Given the description of an element on the screen output the (x, y) to click on. 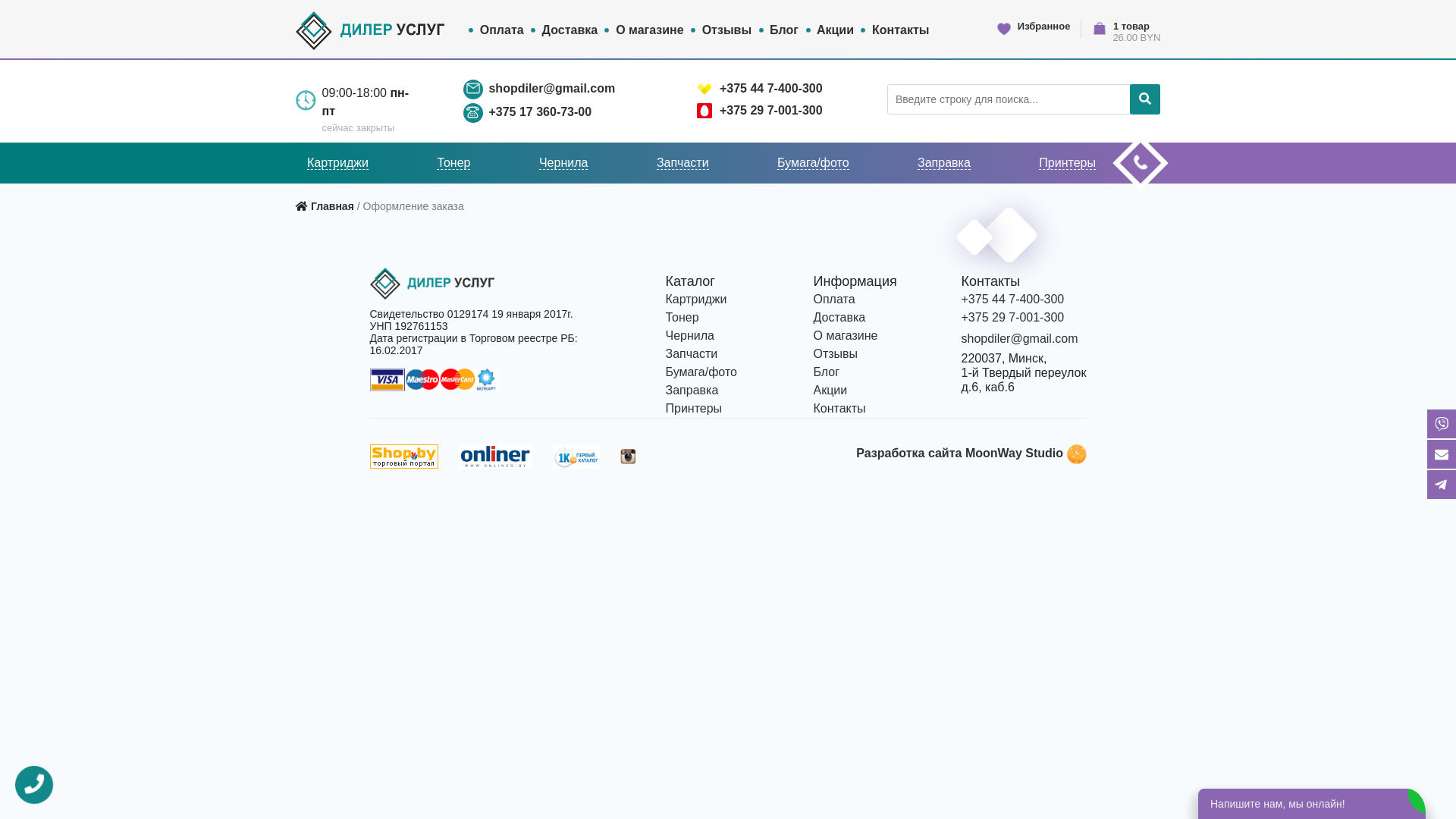
+375 44 7-400-300 Element type: text (770, 87)
+375 29 7-001-300 Element type: text (770, 109)
shopdiler@gmail.com Element type: text (1019, 338)
shopdiler@gmail.com Element type: text (551, 87)
+375 44 7-400-300 Element type: text (1012, 298)
+375 29 7-001-300 Element type: text (1012, 316)
+375 17 360-73-00 Element type: text (539, 110)
